Given the description of an element on the screen output the (x, y) to click on. 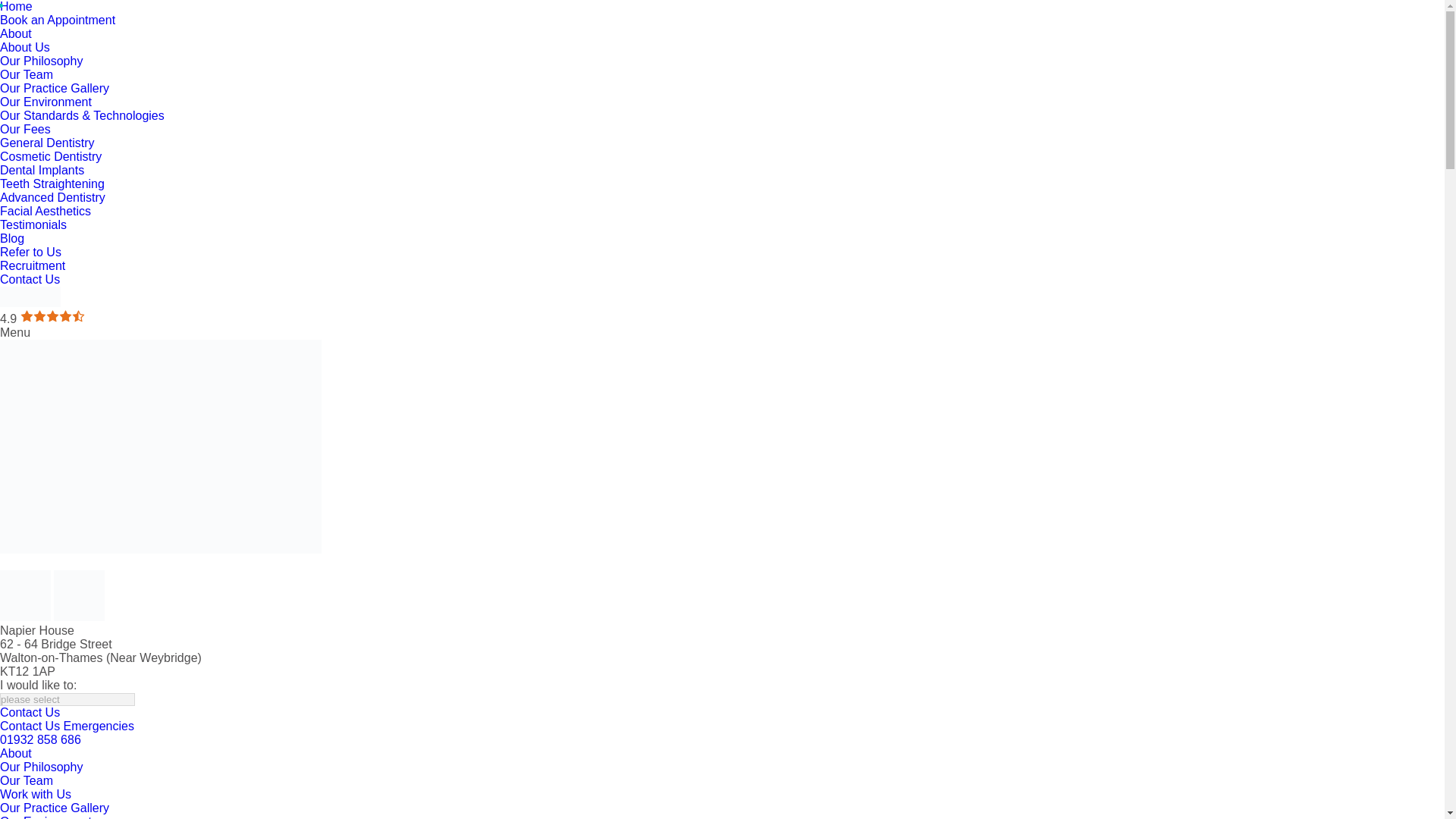
Our Team (26, 74)
Cosmetic Dentistry (50, 155)
Our Environment (45, 101)
Recruitment (32, 265)
Home (16, 6)
Contact Us (29, 278)
Dental Implants (42, 169)
Testimonials (33, 224)
Blog (12, 237)
Refer to Us (30, 251)
Facial Aesthetics (45, 210)
Book an Appointment (57, 19)
Advanced Dentistry (52, 196)
Our Fees (25, 128)
